Given the description of an element on the screen output the (x, y) to click on. 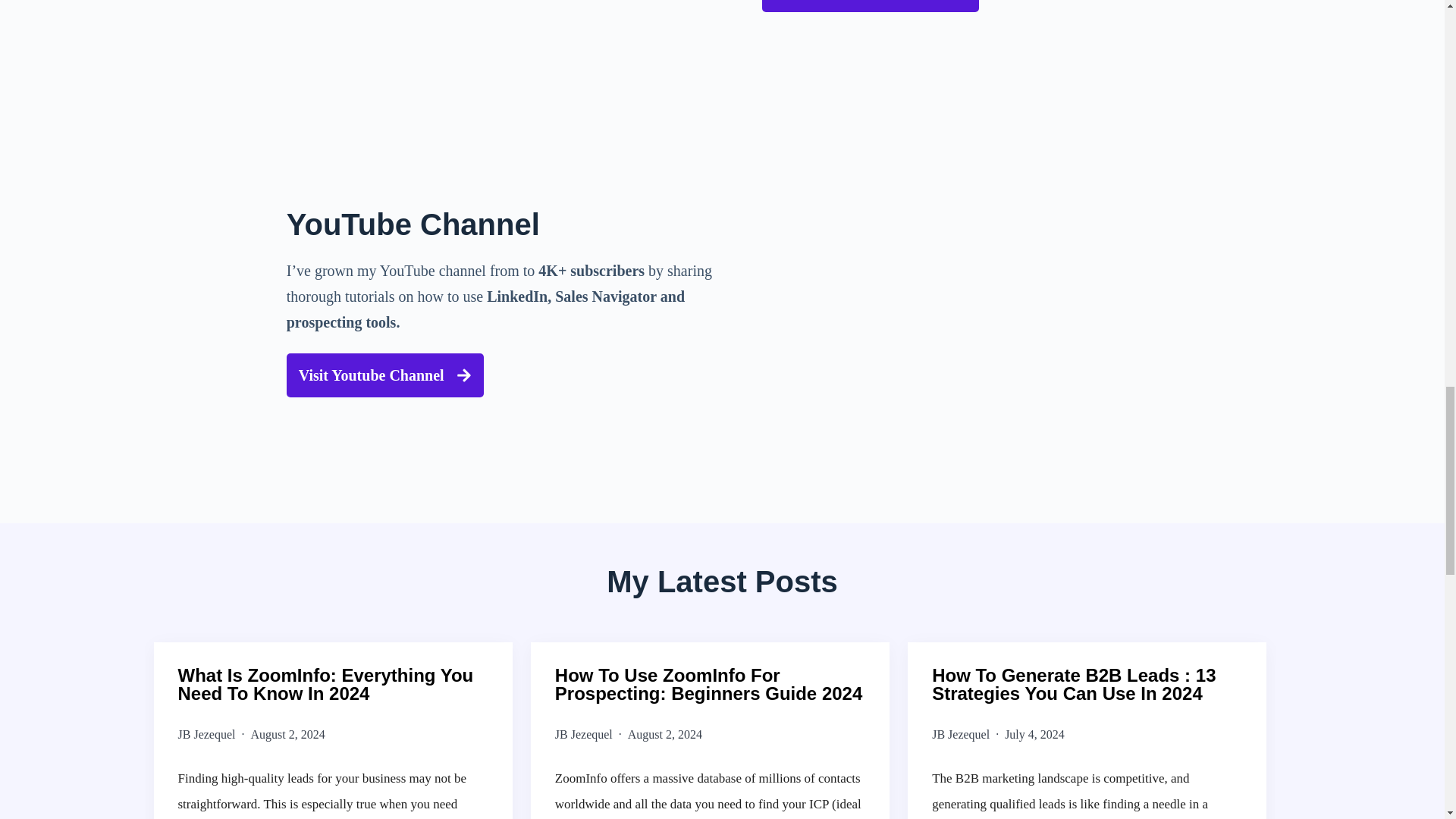
What Is ZoomInfo: Everything You Need To Know In 2024 (332, 684)
Visit Youtube Channel (384, 374)
How To Use ZoomInfo For Prospecting: Beginners Guide 2024 (709, 684)
Visit my LinkedIn Profile (869, 6)
